Given the description of an element on the screen output the (x, y) to click on. 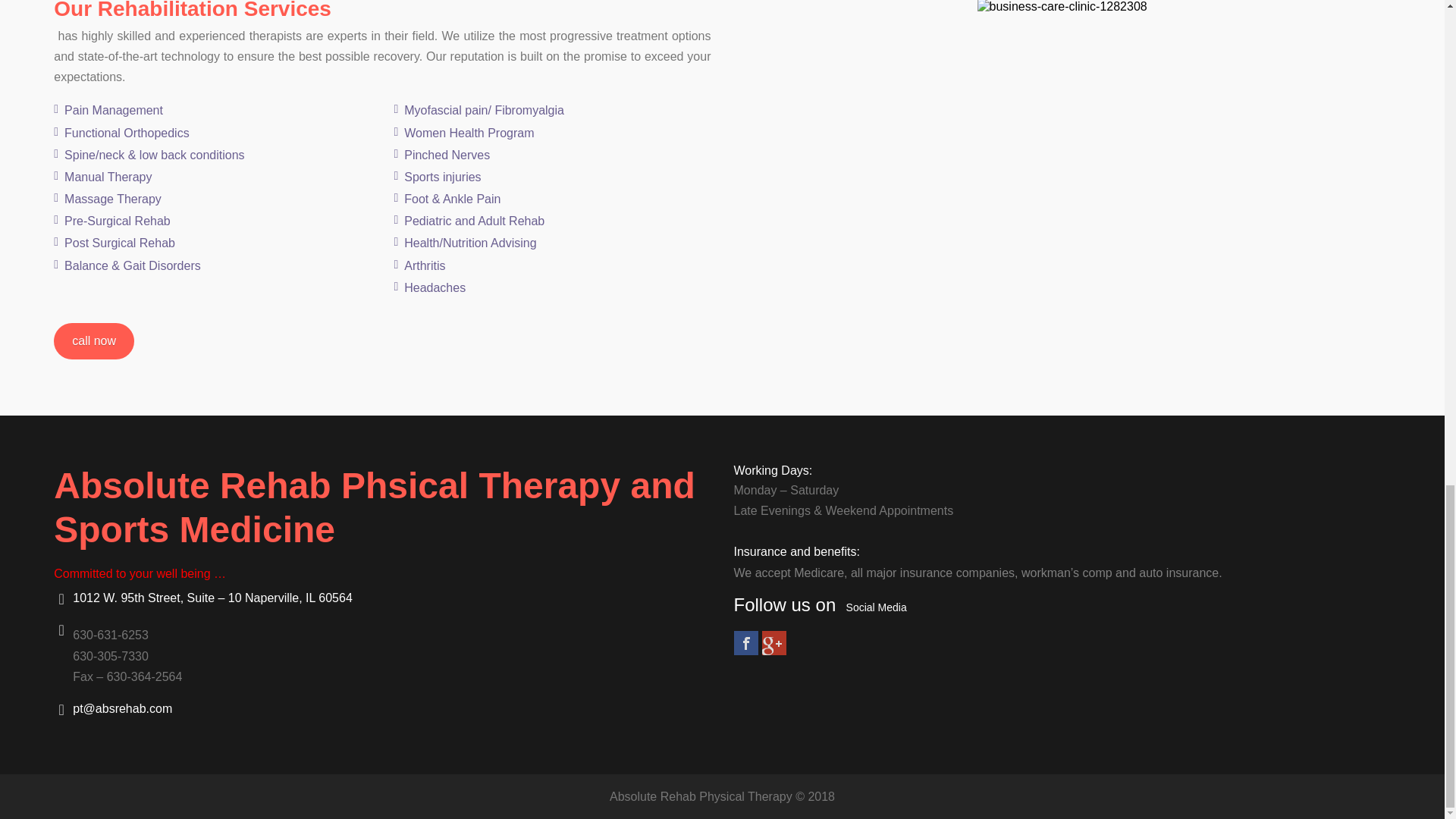
call now (93, 340)
business-care-clinic-1282308 (1061, 6)
Facebook (745, 642)
Absolute Rehab Phsical Therapy and Sports Medicine (374, 507)
